Given the description of an element on the screen output the (x, y) to click on. 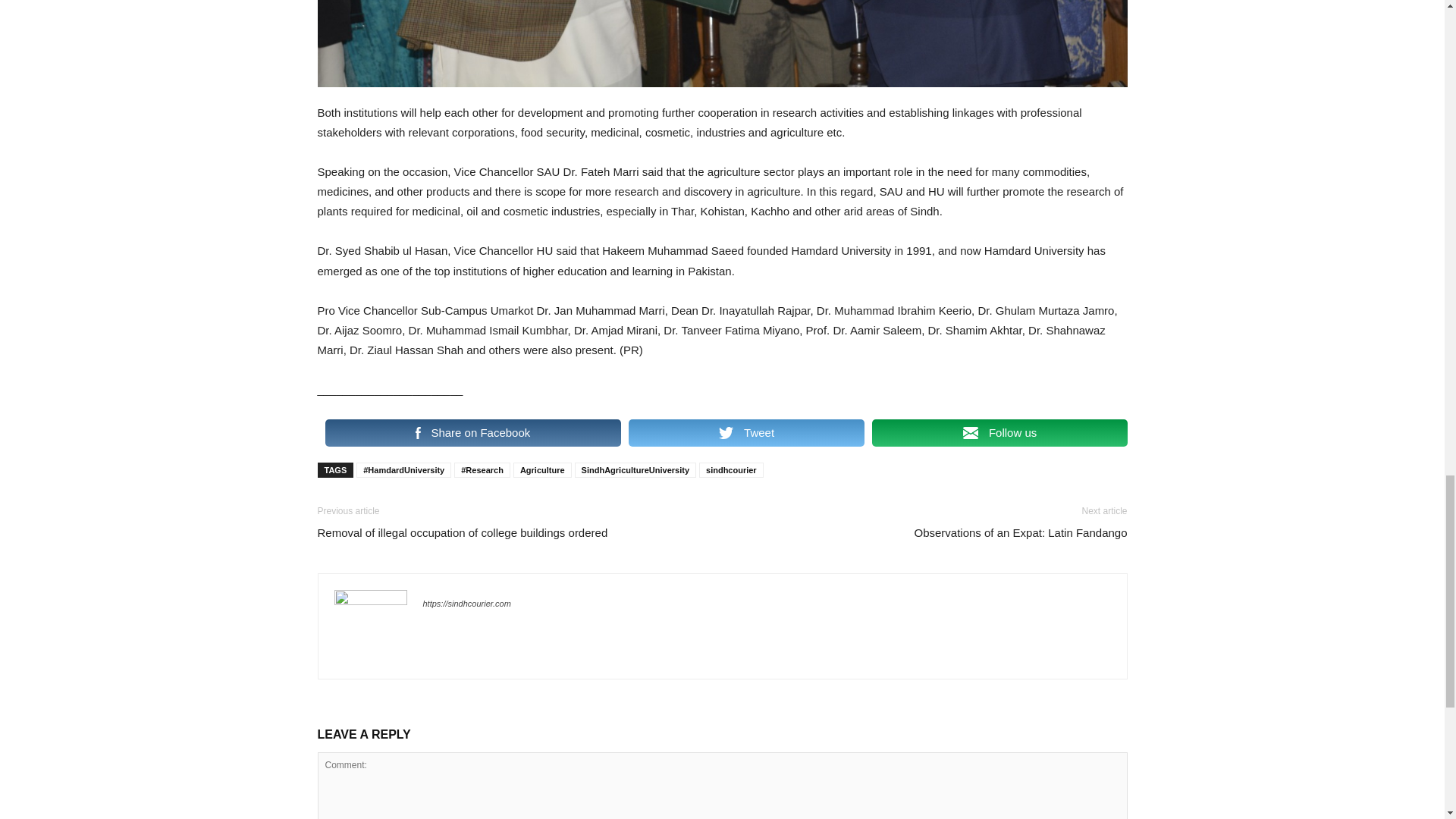
Share on Facebook (472, 432)
Follow us (999, 432)
Tweet (746, 432)
